Given the description of an element on the screen output the (x, y) to click on. 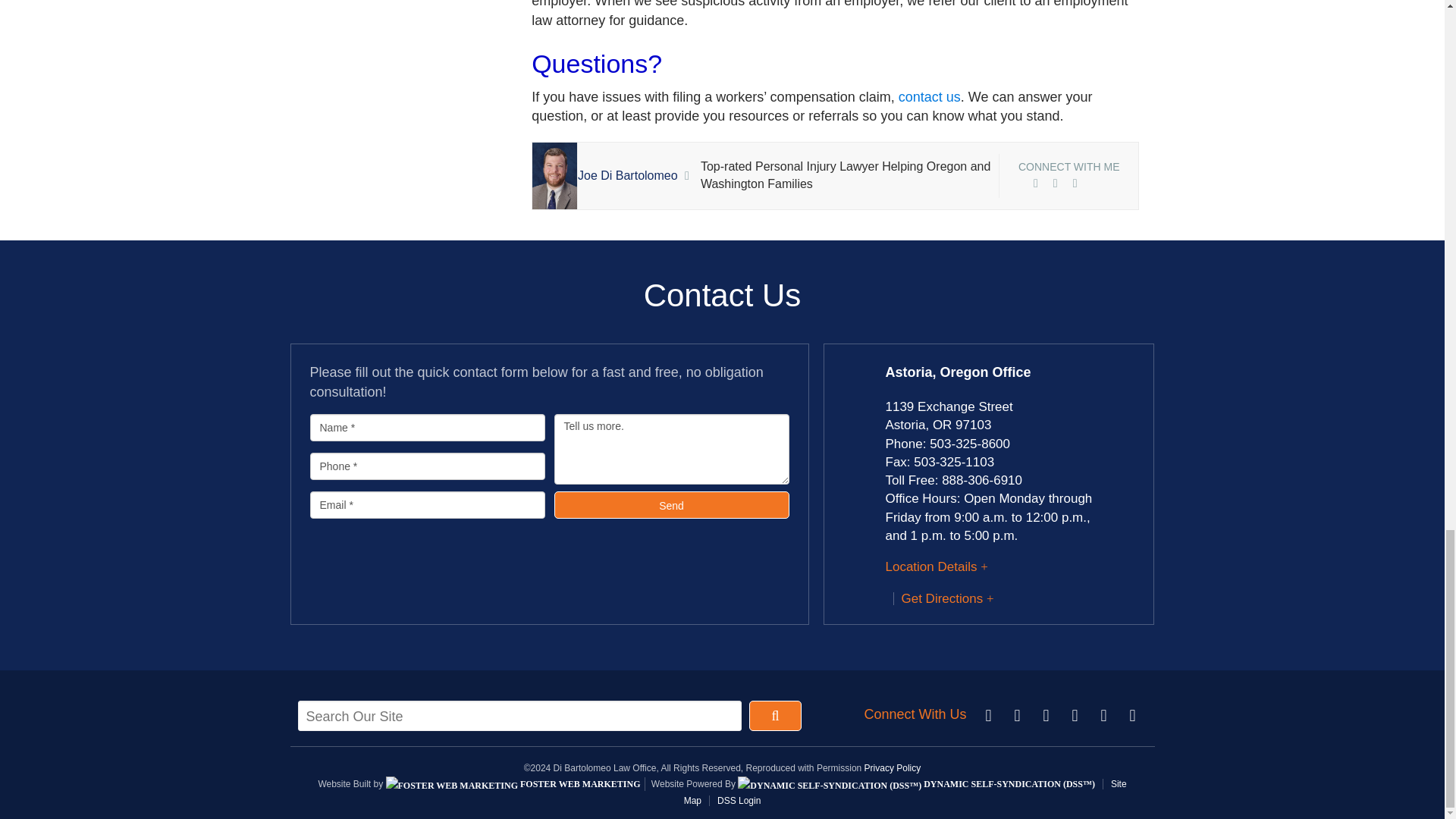
Joe Di Bartolomeo (628, 174)
Send (671, 504)
Search (774, 716)
contact us (929, 96)
